Given the description of an element on the screen output the (x, y) to click on. 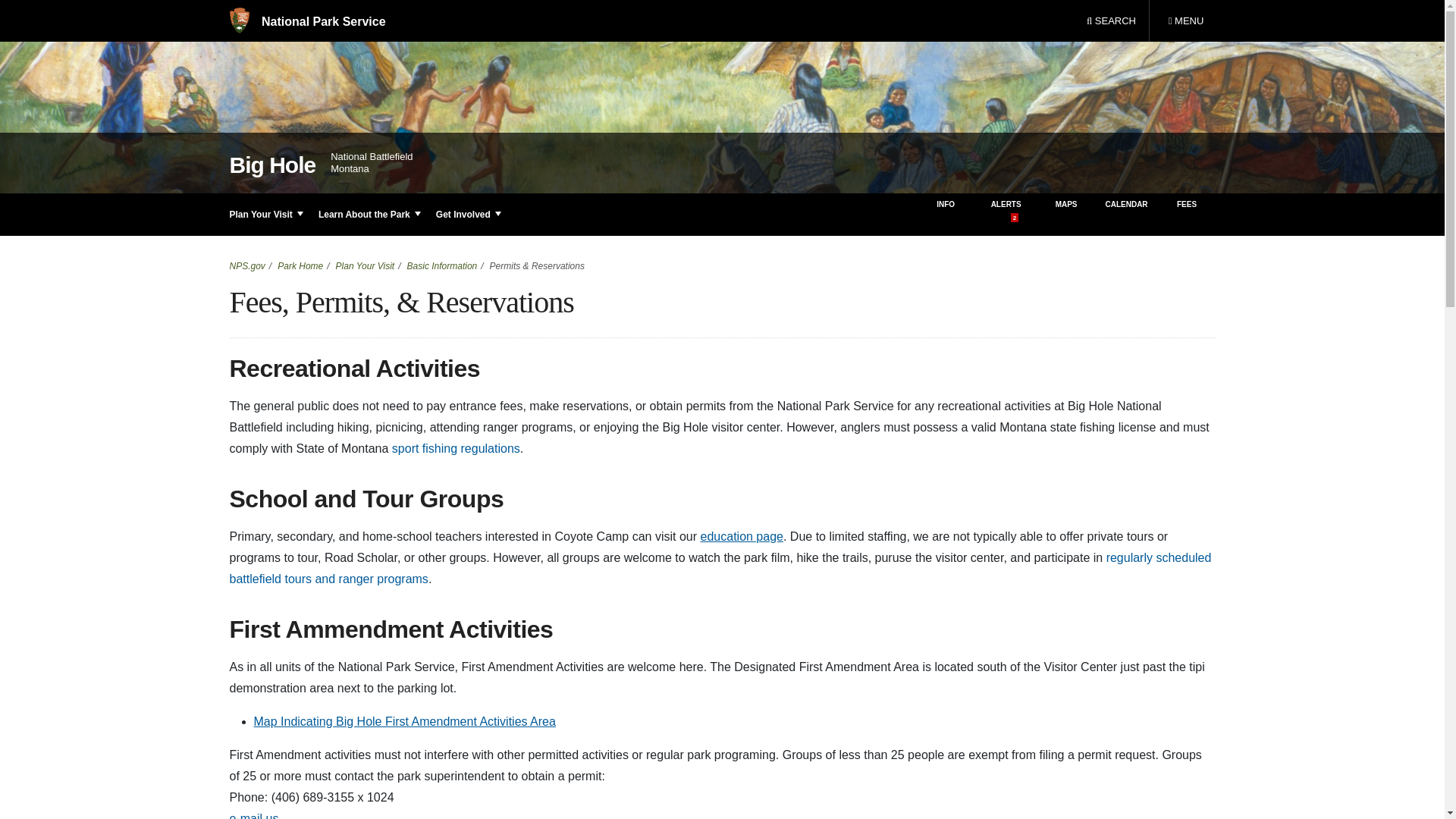
National Park Service (1185, 20)
SEARCH (307, 20)
